Given the description of an element on the screen output the (x, y) to click on. 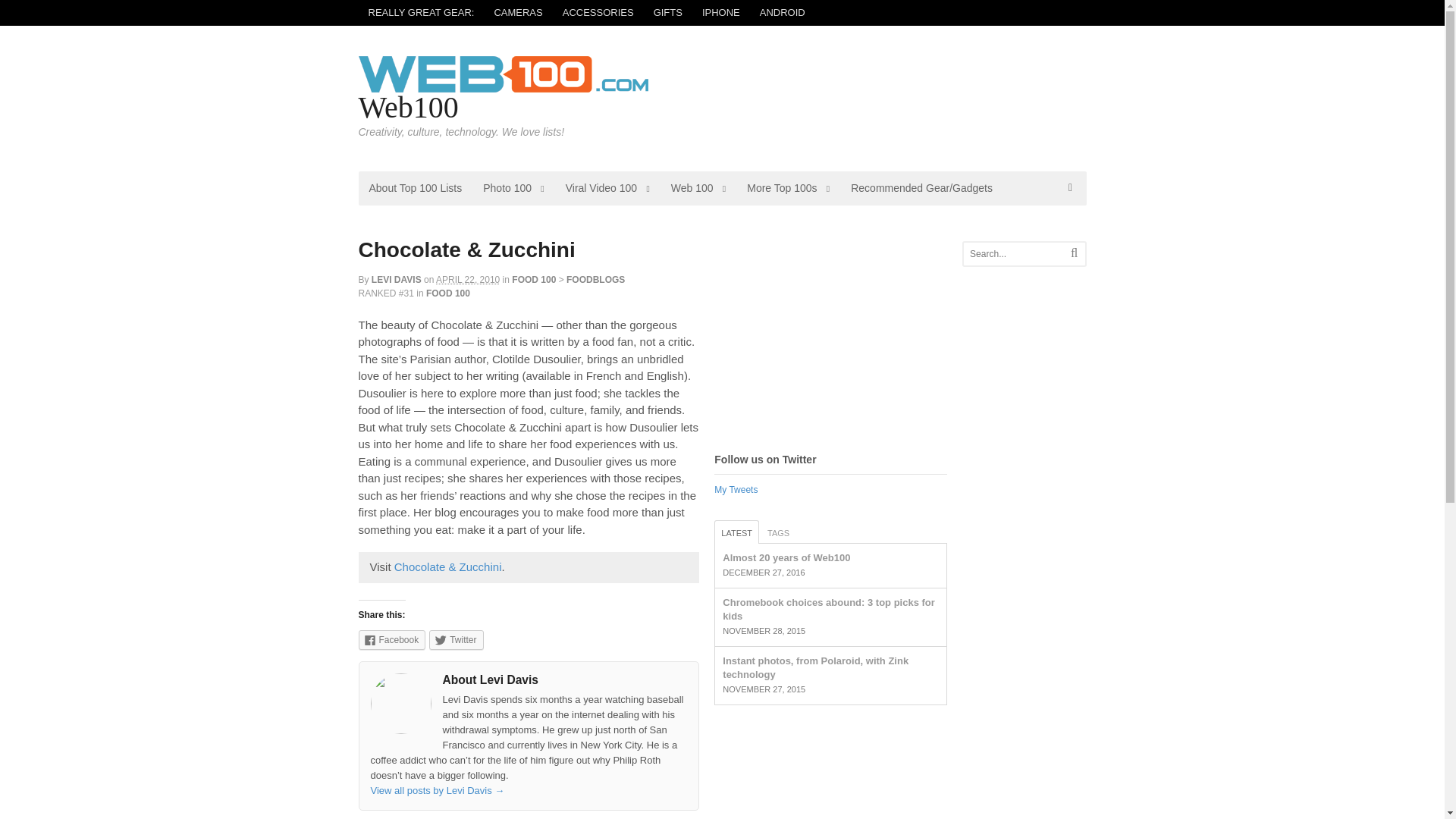
ANDROID (782, 12)
2010-04-22T21:57:41-0400 (467, 279)
Photo 100 (512, 188)
Instant photos, from Polaroid, with Zink technology (815, 667)
All top 100 lists (788, 188)
Chromebook choices abound: 3 top picks for kids (828, 609)
CAMERAS (517, 12)
Search... (1020, 253)
About Top 100 Lists (414, 188)
Click to share on Facebook (391, 639)
Web100 (408, 107)
Almost 20 years of Web100 (786, 557)
GIFTS (668, 12)
ACCESSORIES (598, 12)
Posts by Levi Davis (396, 279)
